Given the description of an element on the screen output the (x, y) to click on. 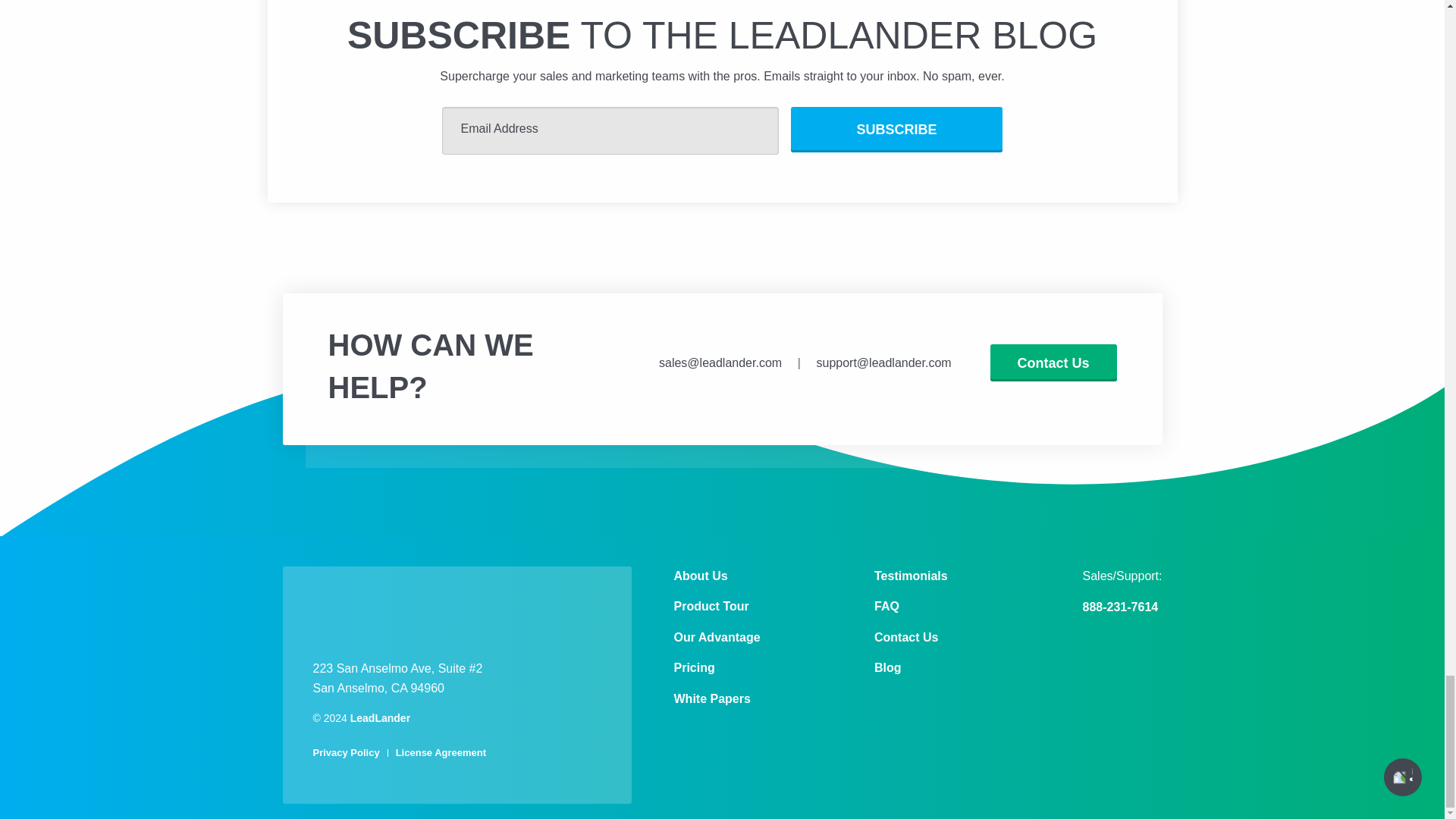
Subscribe (896, 129)
LeadLander (413, 615)
Subscribe (896, 129)
